Given the description of an element on the screen output the (x, y) to click on. 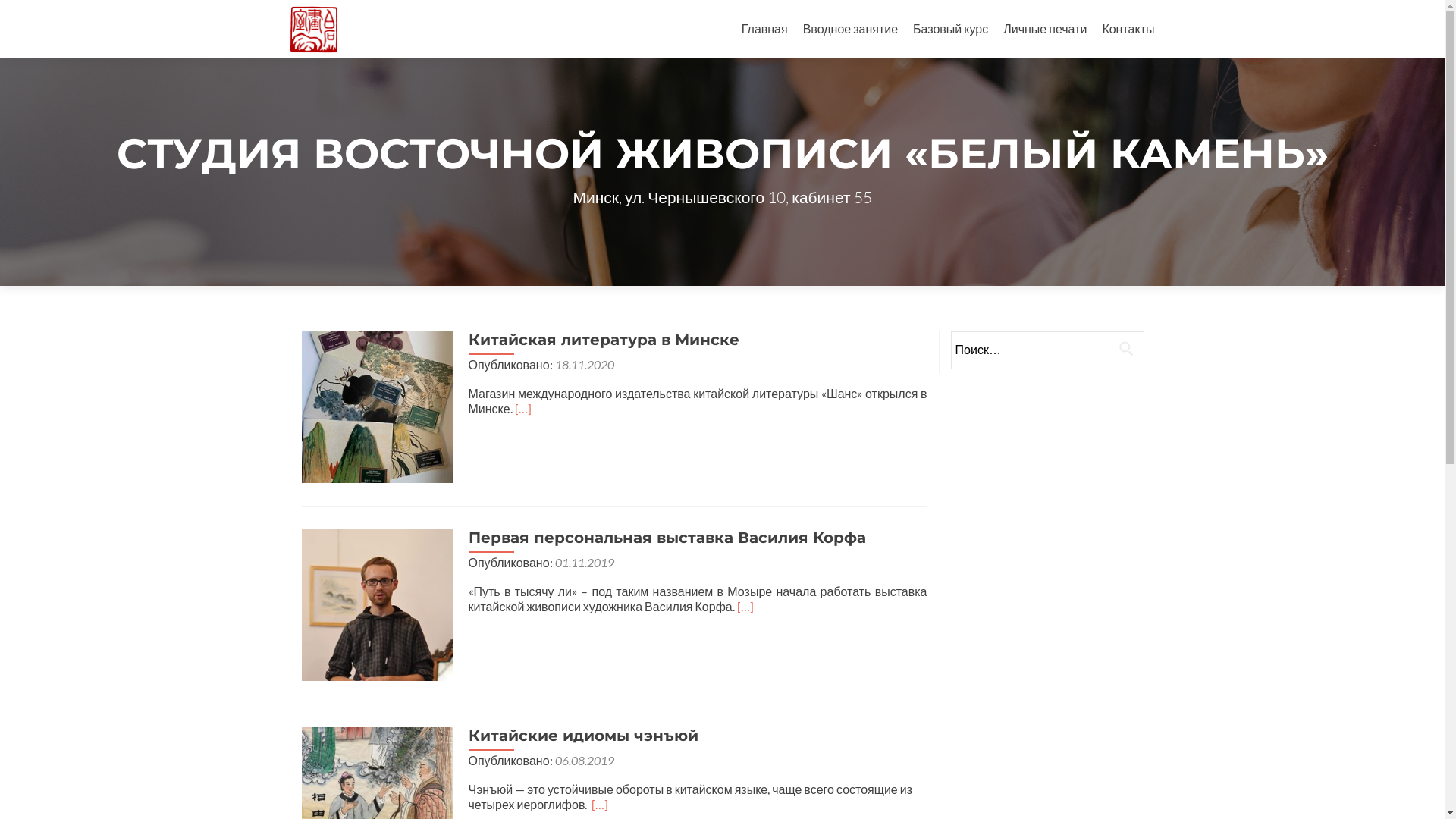
01.11.2019 Element type: text (584, 562)
06.08.2019 Element type: text (584, 759)
18.11.2020 Element type: text (584, 363)
Skip to content Element type: text (780, 9)
